Given the description of an element on the screen output the (x, y) to click on. 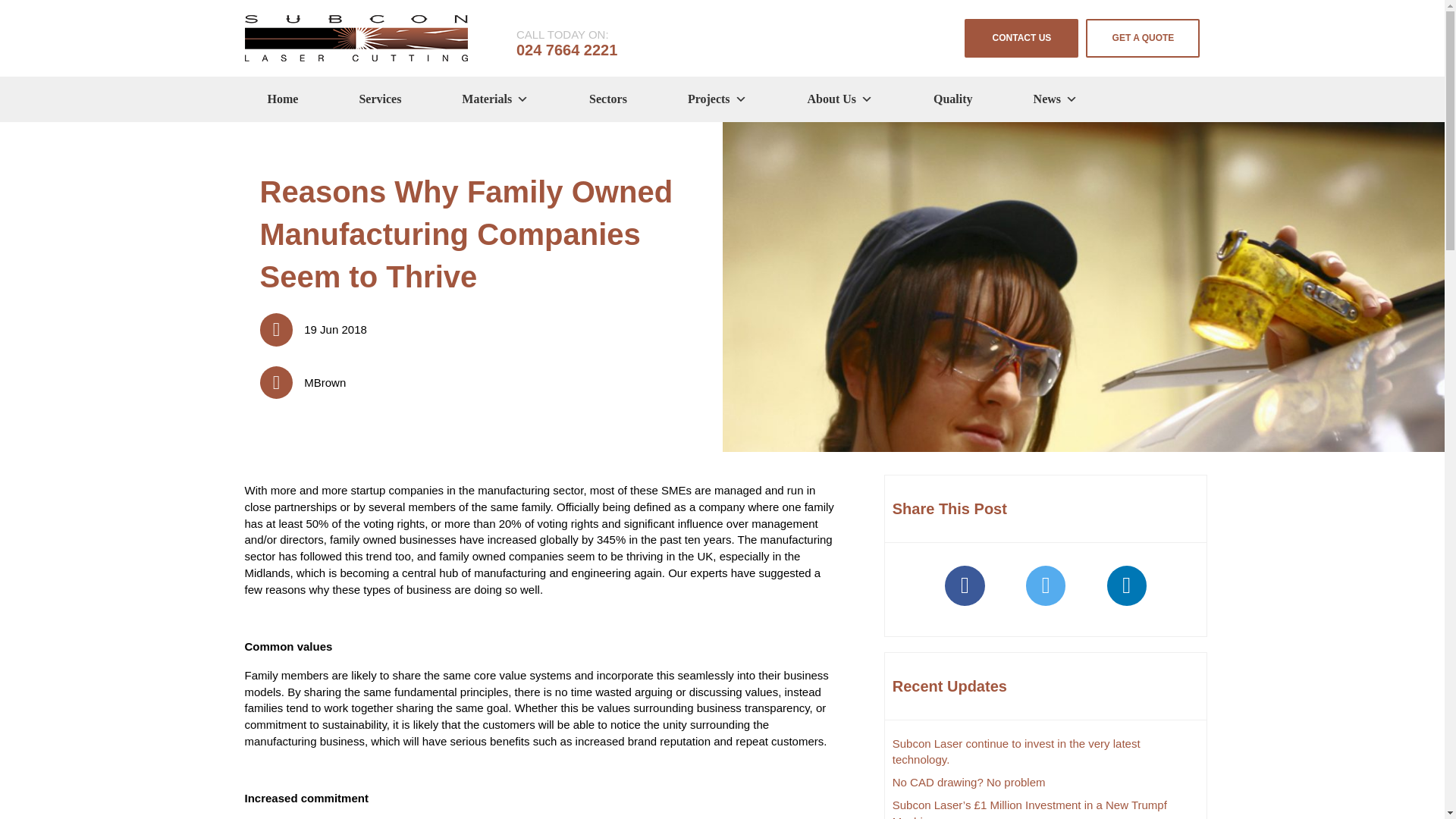
News (1055, 99)
Home (282, 99)
CONTACT US (1020, 38)
Sectors (608, 99)
Materials (494, 99)
CONTACT US (1020, 38)
Services (379, 99)
Projects (717, 99)
logo (355, 38)
About Us (839, 99)
Quality (952, 99)
024 7664 2221 (566, 49)
GET A QUOTE (1142, 38)
